Given the description of an element on the screen output the (x, y) to click on. 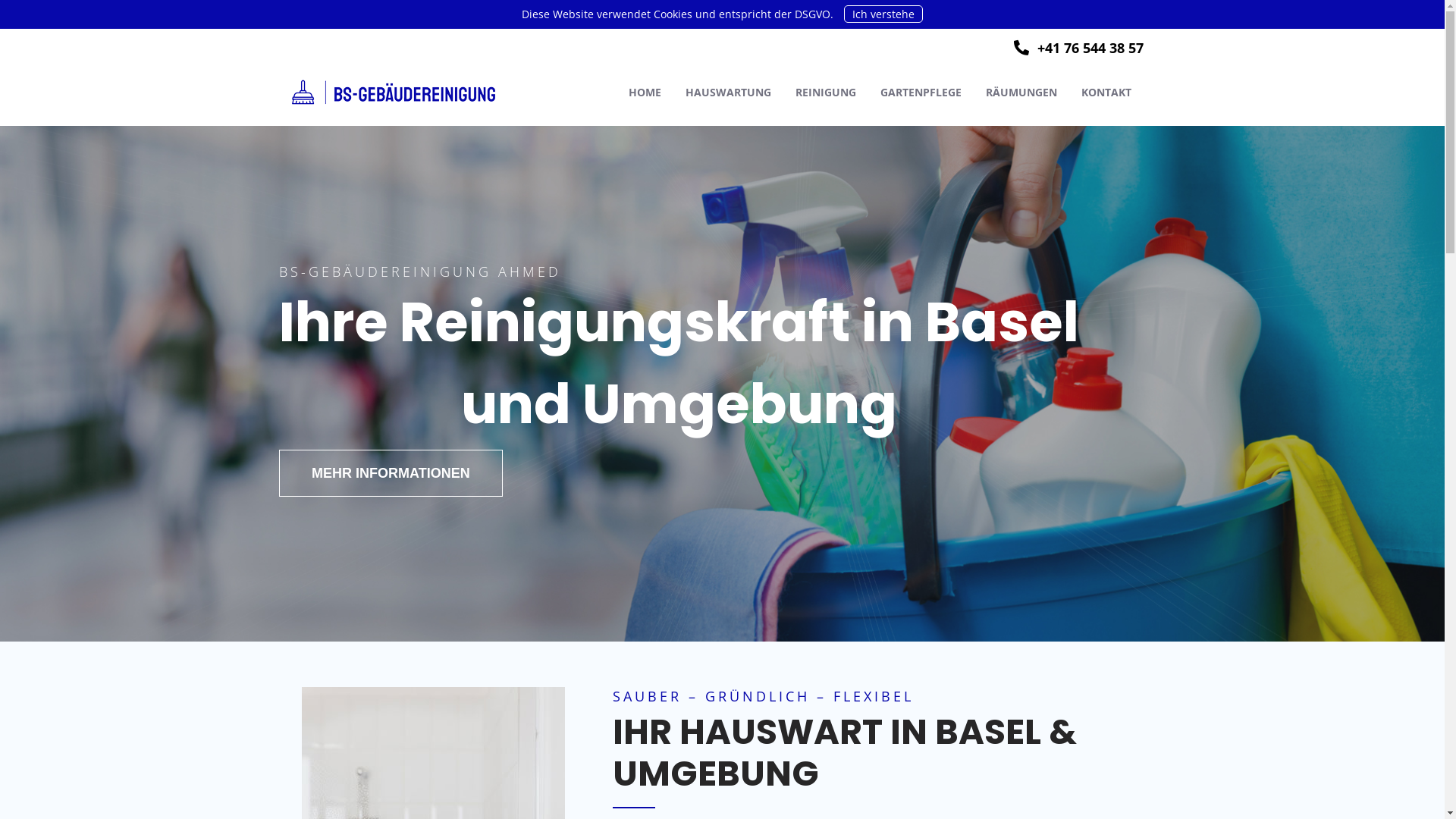
HOME Element type: text (643, 92)
HAUSWARTUNG Element type: text (728, 92)
Ich verstehe Element type: text (883, 13)
REINIGUNG Element type: text (824, 92)
MEHR INFORMATIONEN Element type: text (390, 472)
GARTENPFLEGE Element type: text (919, 92)
+41 76 544 38 57 Element type: text (1077, 47)
KONTAKT Element type: text (1106, 92)
